Given the description of an element on the screen output the (x, y) to click on. 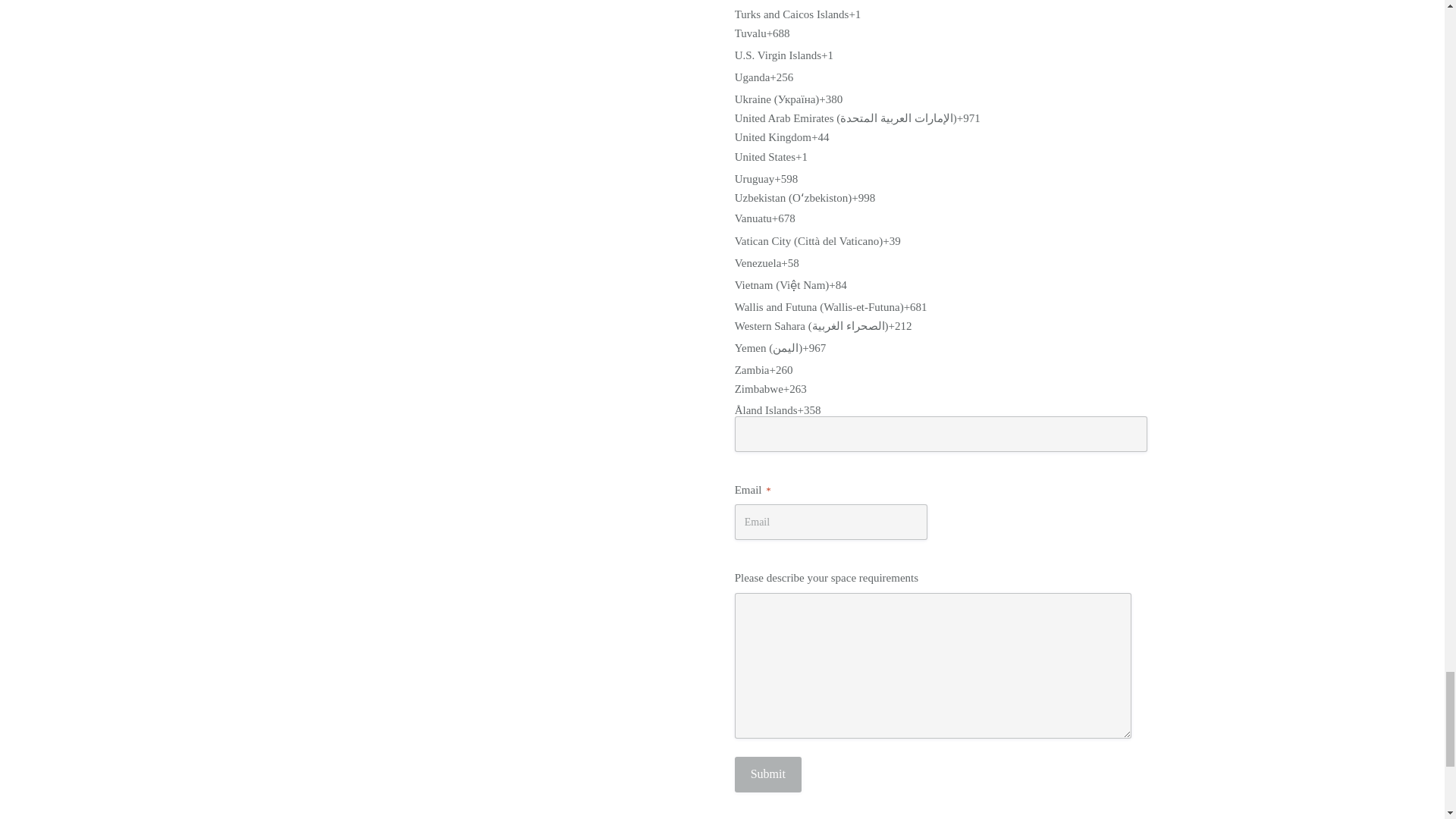
Submit (768, 774)
Submit (768, 774)
